Given the description of an element on the screen output the (x, y) to click on. 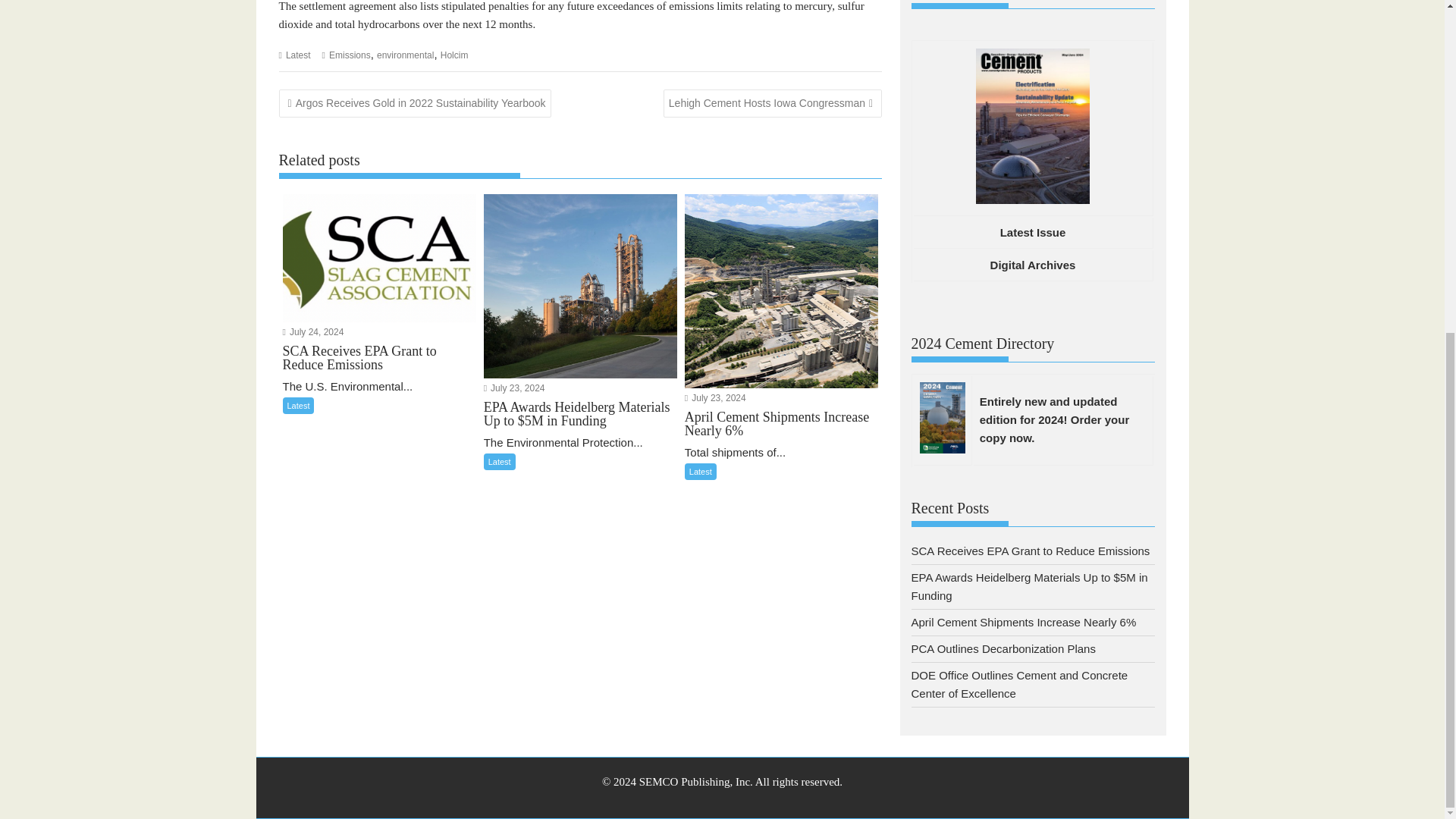
Buy the 2023 Cement Directory (1054, 419)
Latest (298, 54)
